Given the description of an element on the screen output the (x, y) to click on. 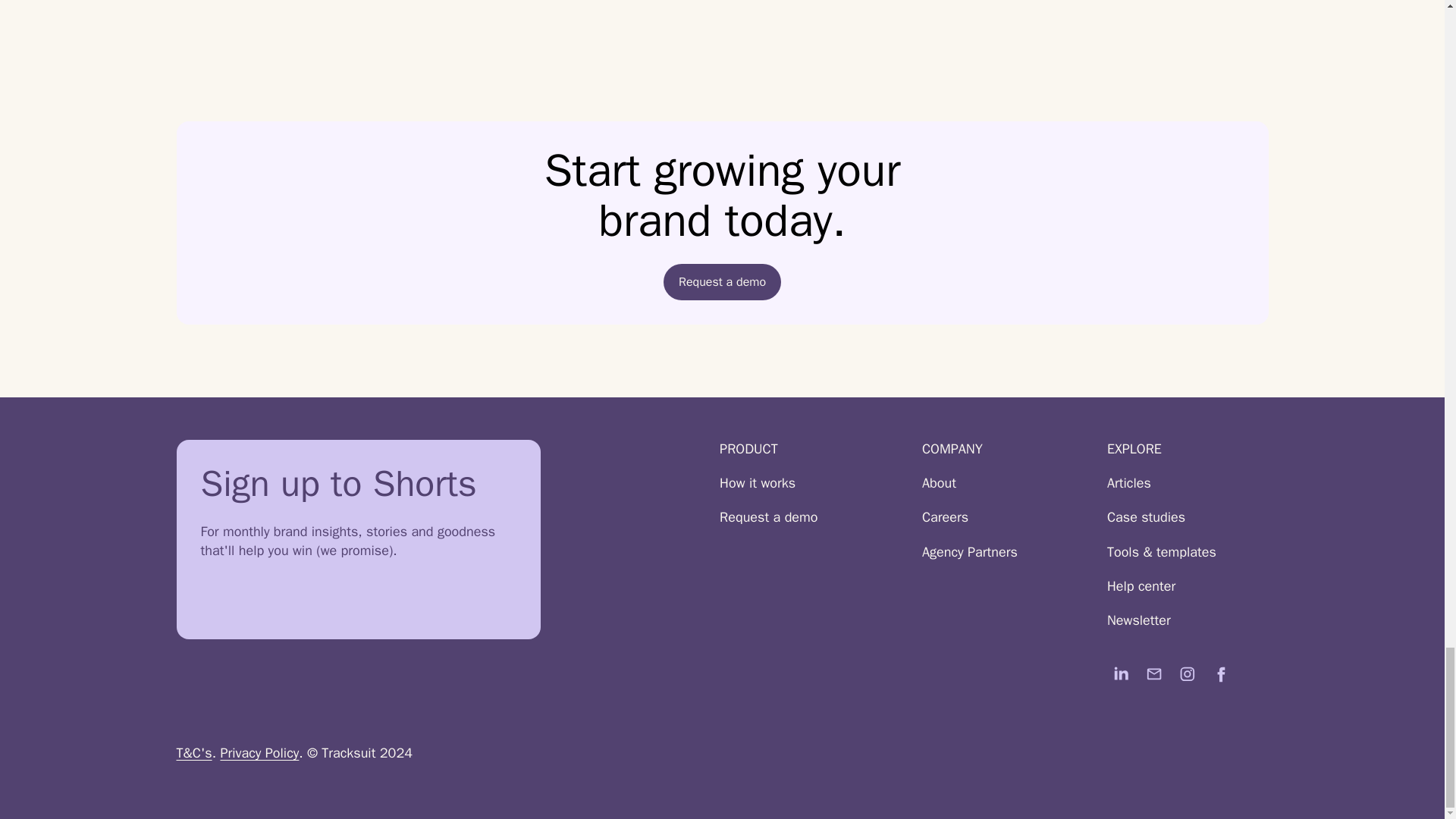
Newsletter (1170, 619)
Request a demo (721, 281)
Careers (969, 517)
Articles (1170, 483)
Agency Partners (969, 551)
Privacy Policy (258, 752)
Request a demo (767, 517)
Case studies (1170, 517)
Help center (1170, 586)
About (969, 483)
How it works (767, 483)
